Given the description of an element on the screen output the (x, y) to click on. 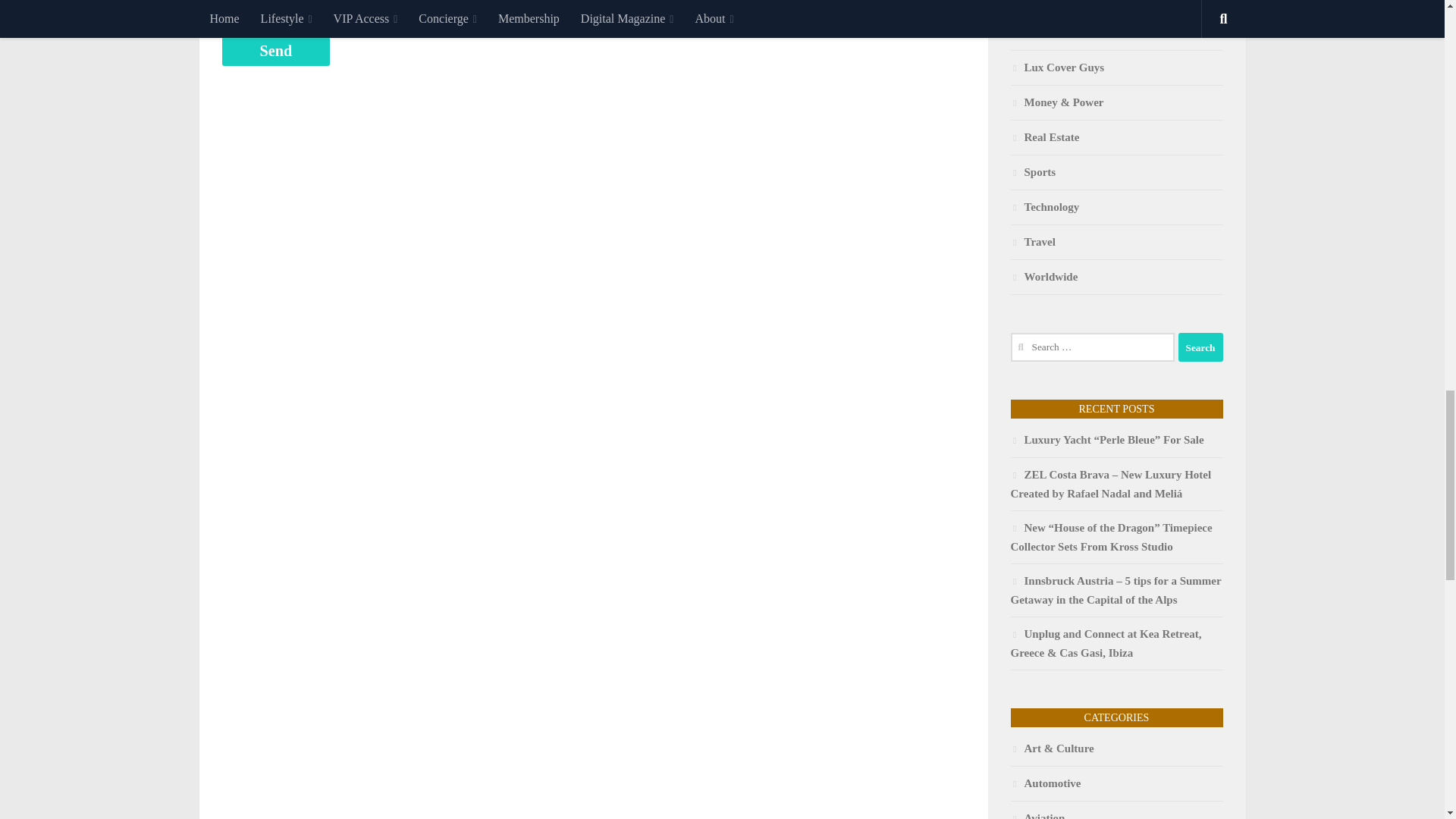
Print Content (953, 105)
Send (275, 51)
Search (1200, 346)
Search (1200, 346)
